Given the description of an element on the screen output the (x, y) to click on. 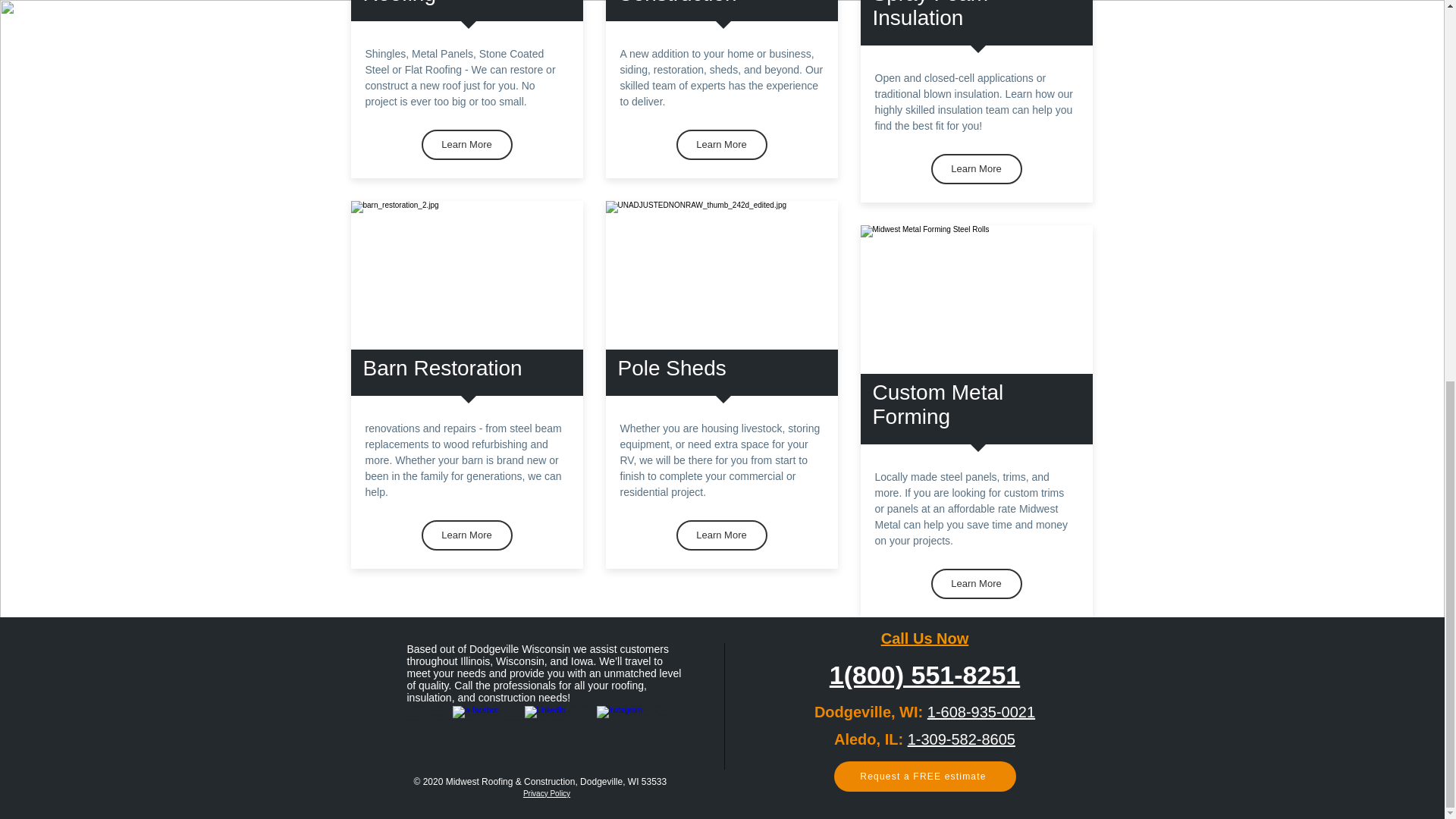
Call Us Now (924, 638)
Request a FREE estimate (925, 776)
Privacy Policy (546, 793)
Learn More (467, 144)
Learn More (976, 168)
Learn More (976, 583)
Learn More (722, 144)
Learn More (467, 535)
Learn More (722, 535)
